Given the description of an element on the screen output the (x, y) to click on. 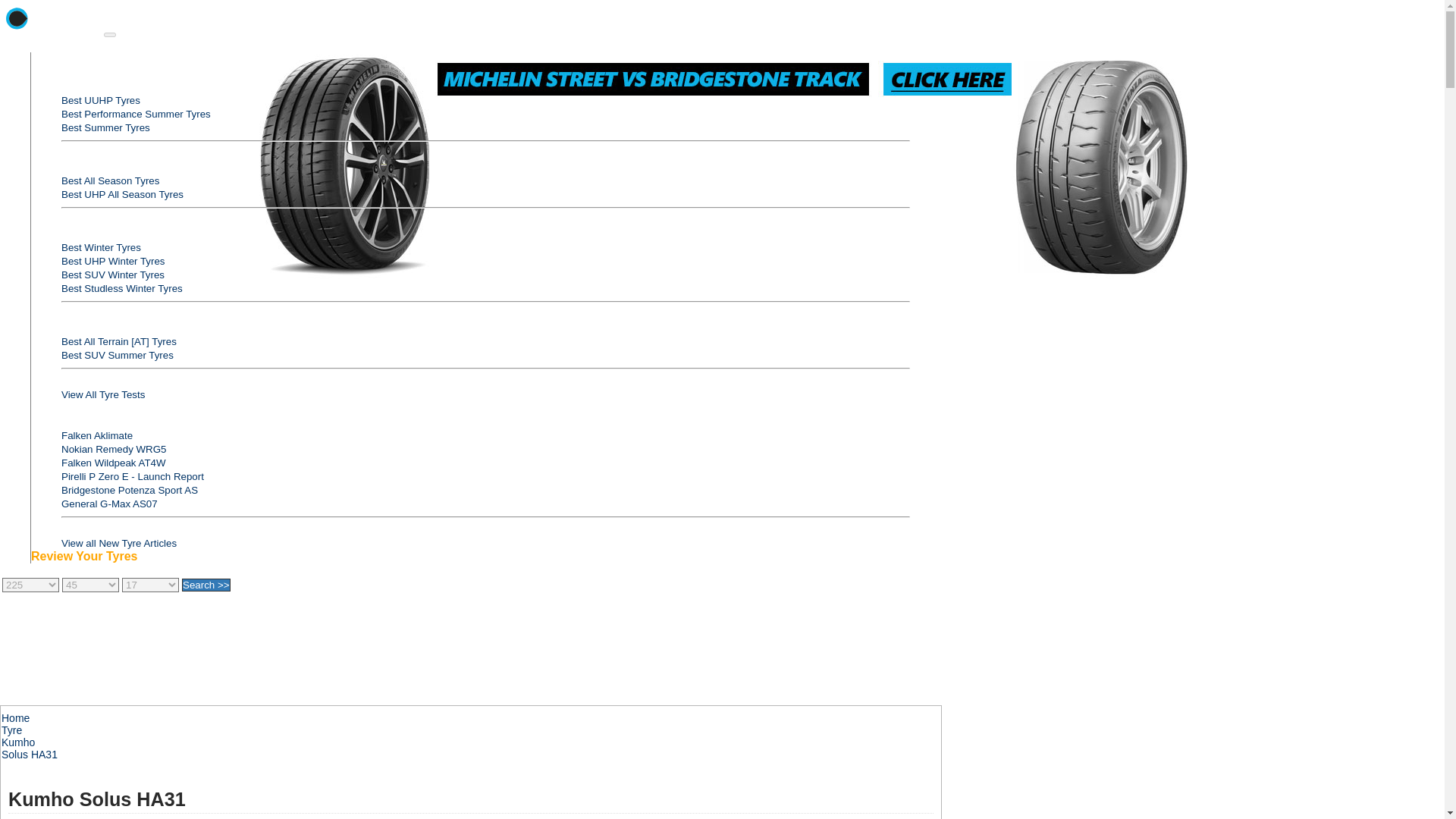
Falken Wildpeak AT4W (113, 462)
Bridgestone Potenza Sport AS (129, 490)
Best UHP All Season Tyres (122, 194)
Tyre Tests (57, 72)
Best Studless Winter Tyres (122, 288)
Kumho (17, 742)
New Tyres (58, 420)
Solus HA31 (29, 754)
Tyre (11, 729)
View All Tyre Tests (102, 394)
Best Performance Summer Tyres (136, 113)
Home (15, 717)
View all New Tyre Articles (118, 542)
Best Winter Tyres (101, 247)
Nokian Remedy WRG5 (114, 449)
